Given the description of an element on the screen output the (x, y) to click on. 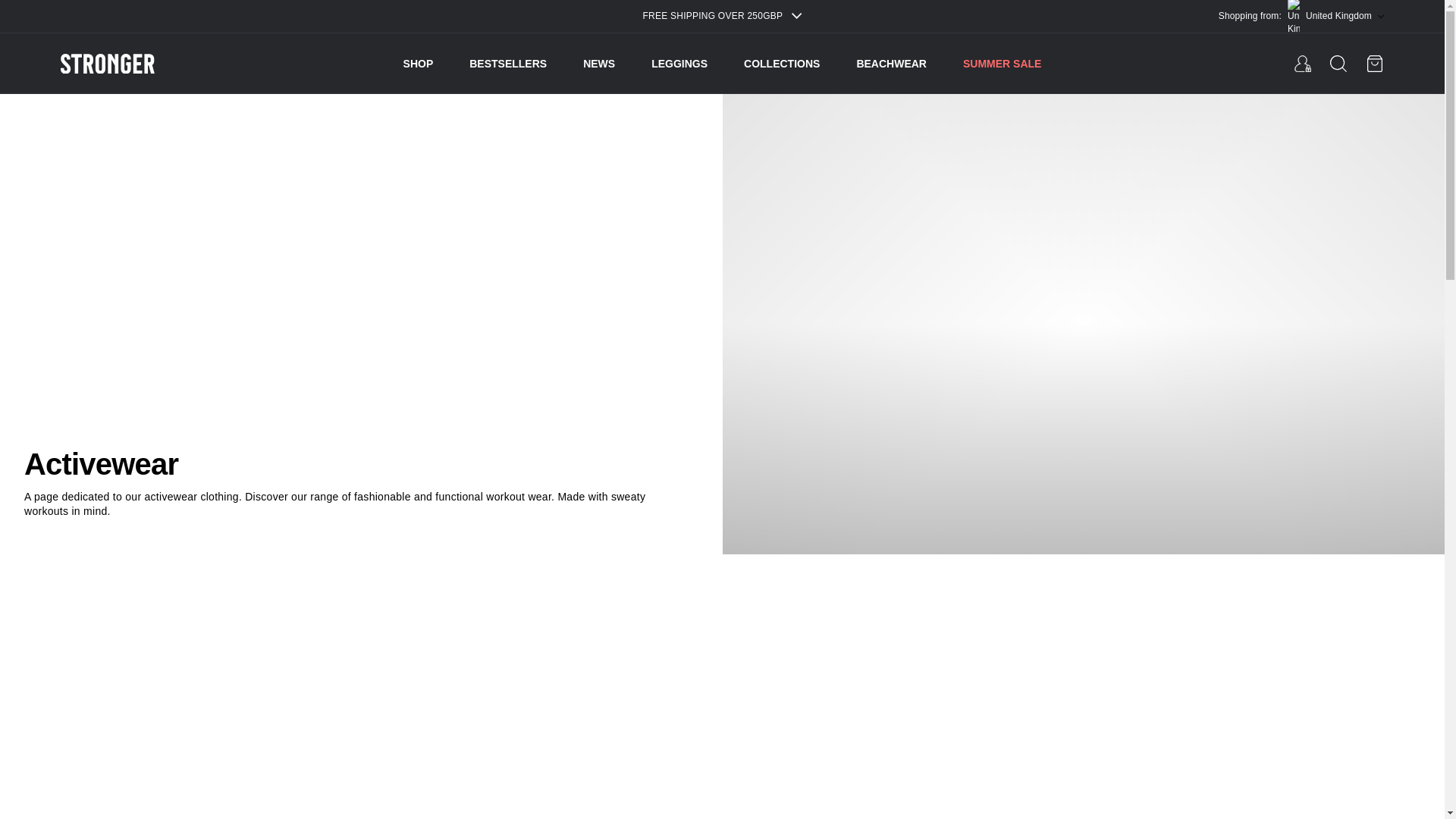
SUMMER SALE (1001, 63)
Open cart (1374, 63)
BESTSELLERS (507, 63)
SHOP (418, 63)
NEWS (598, 63)
LEGGINGS (678, 63)
BEACHWEAR (891, 63)
Stronger (144, 64)
COLLECTIONS (781, 63)
Open search (1338, 63)
Open hero league (1302, 63)
